Given the description of an element on the screen output the (x, y) to click on. 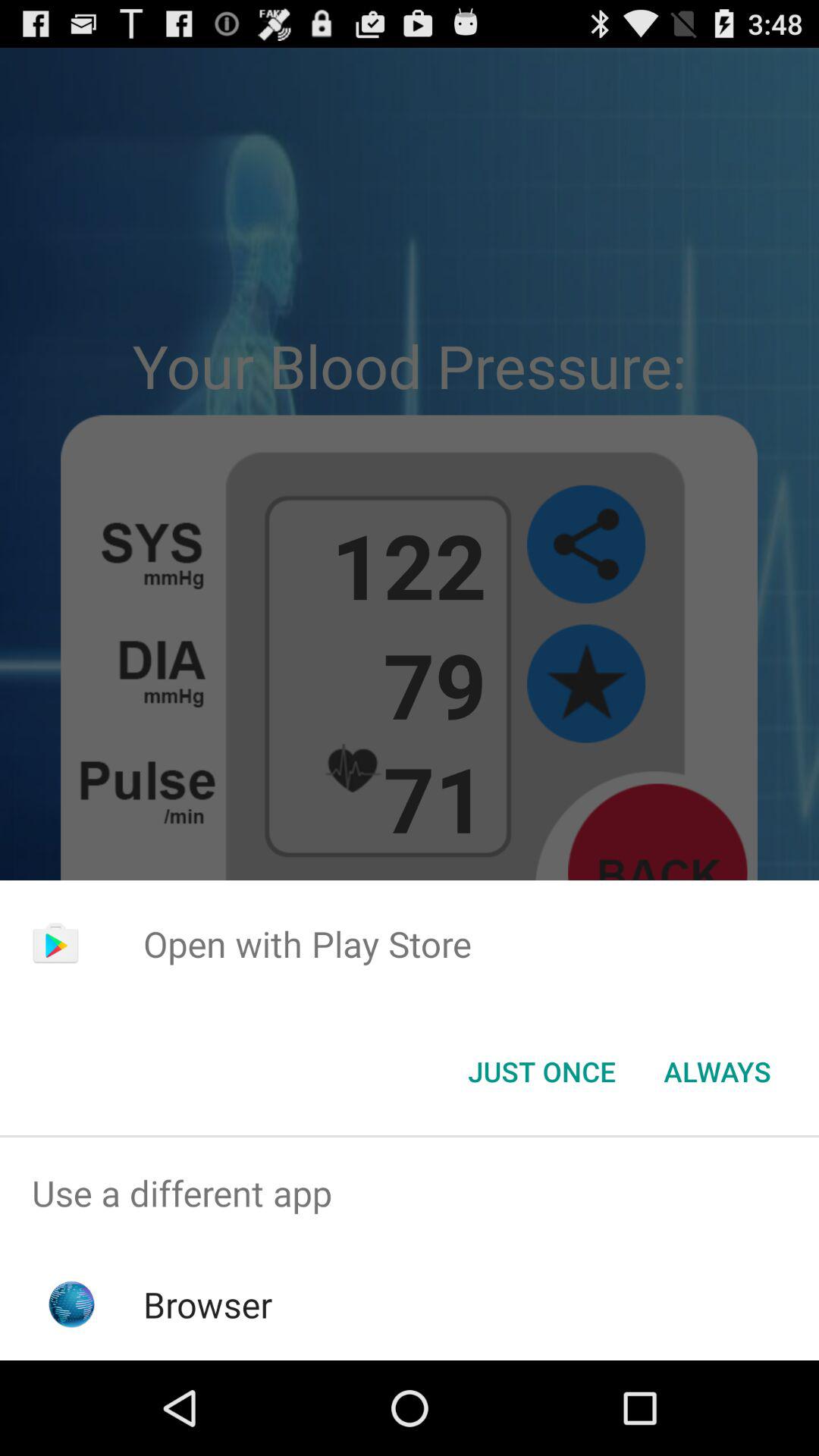
turn on icon to the left of the always button (541, 1071)
